Given the description of an element on the screen output the (x, y) to click on. 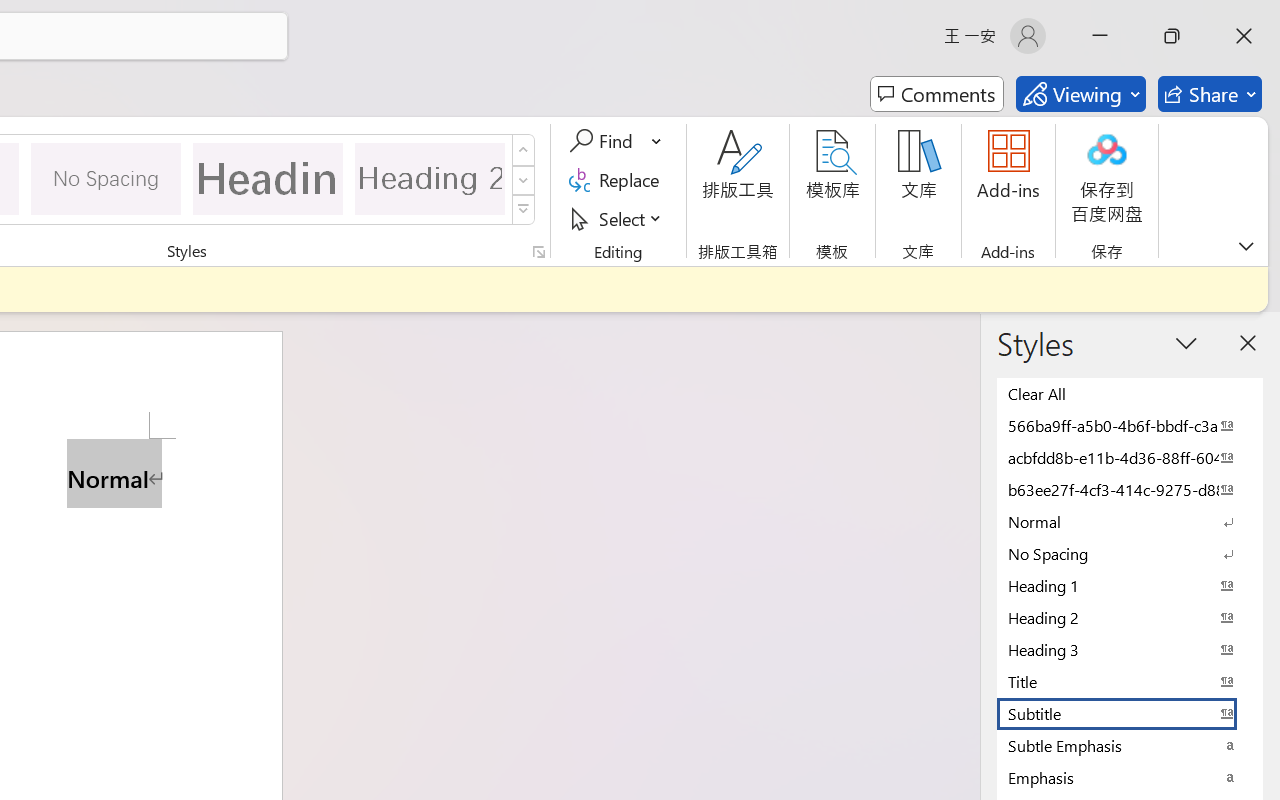
Heading 1 (267, 178)
Subtle Emphasis (1130, 745)
Clear All (1130, 393)
Styles (523, 209)
566ba9ff-a5b0-4b6f-bbdf-c3ab41993fc2 (1130, 425)
Task Pane Options (1186, 343)
Select (618, 218)
Subtitle (1130, 713)
Replace... (617, 179)
